Given the description of an element on the screen output the (x, y) to click on. 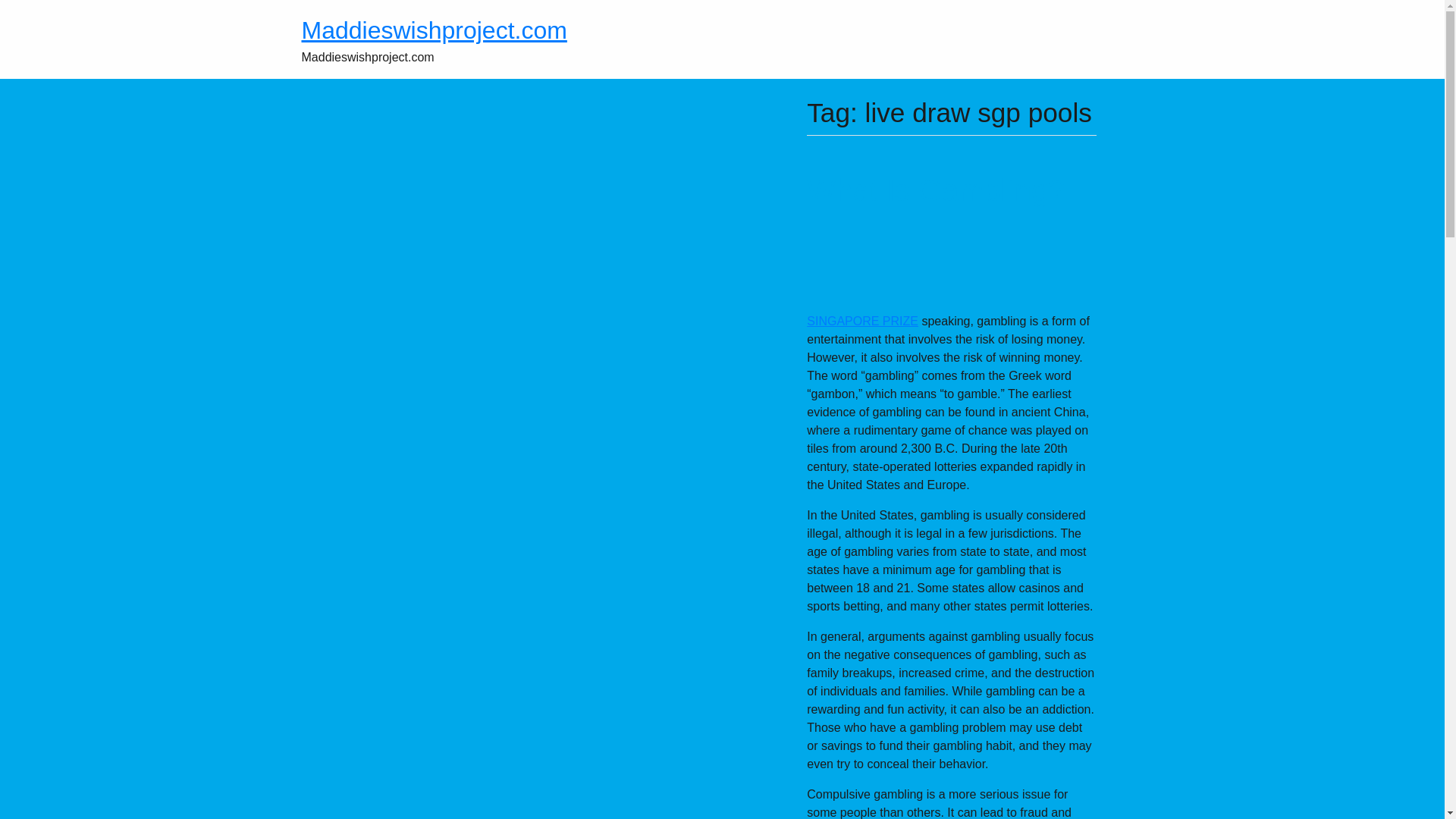
What Is Gambling? (935, 190)
Maddieswishproject.com (434, 30)
Maddieswishproject.com (434, 30)
SINGAPORE PRIZE (862, 320)
